Given the description of an element on the screen output the (x, y) to click on. 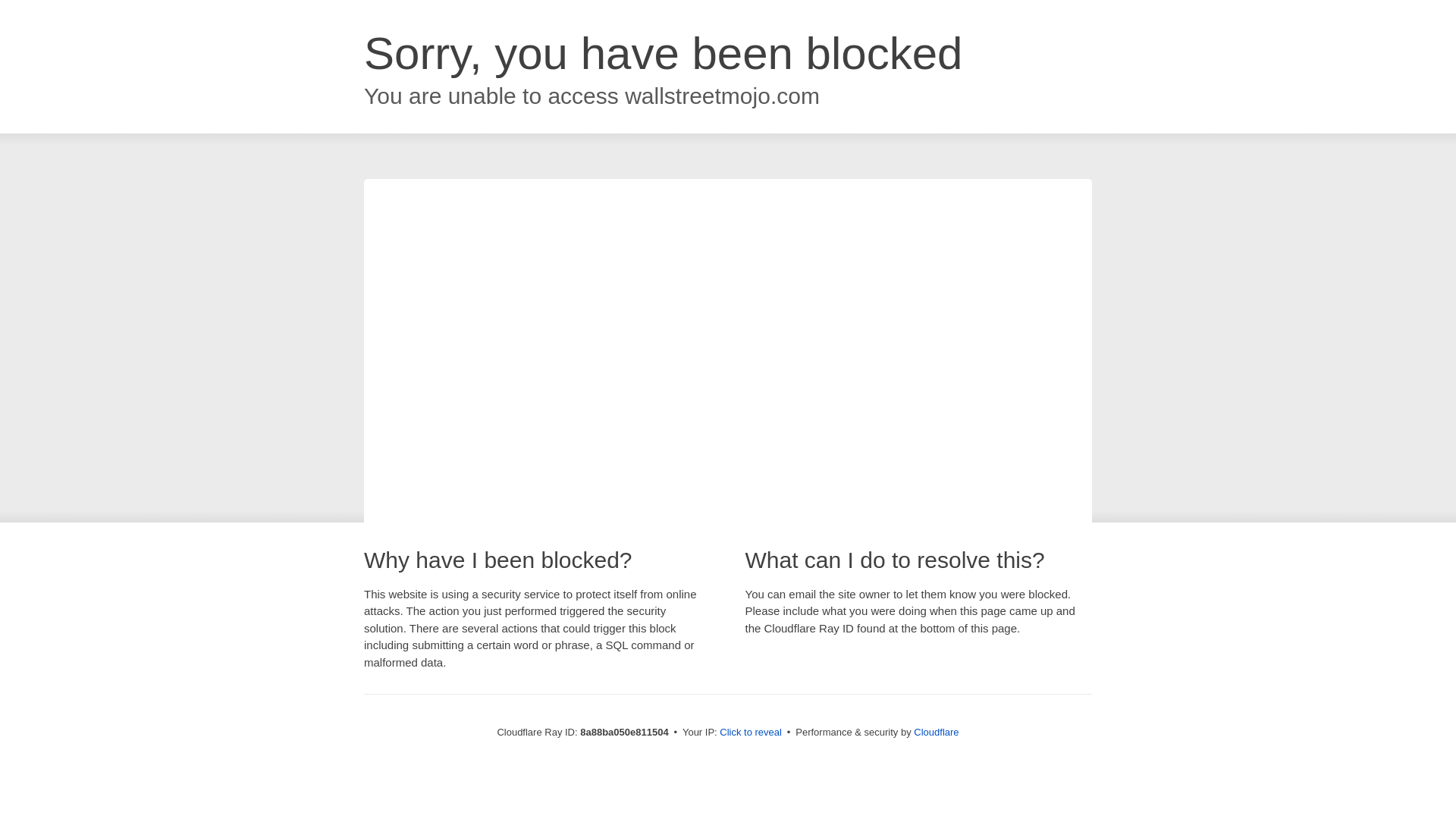
Click to reveal (750, 732)
Cloudflare (936, 731)
